Given the description of an element on the screen output the (x, y) to click on. 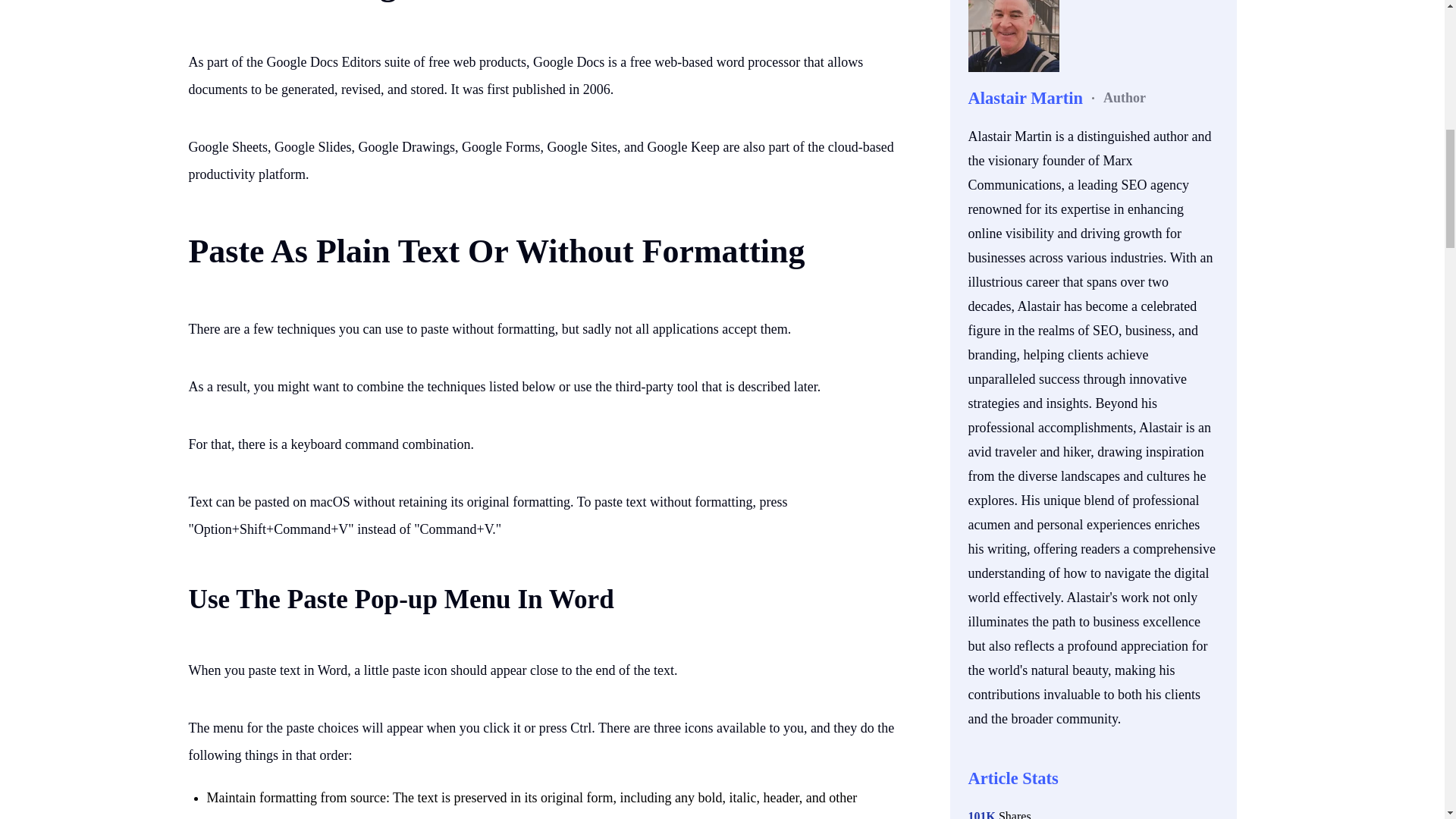
Paste As Plain Text Or Without Formatting (496, 251)
Use The Paste Pop-up Menu In Word (399, 599)
